Given the description of an element on the screen output the (x, y) to click on. 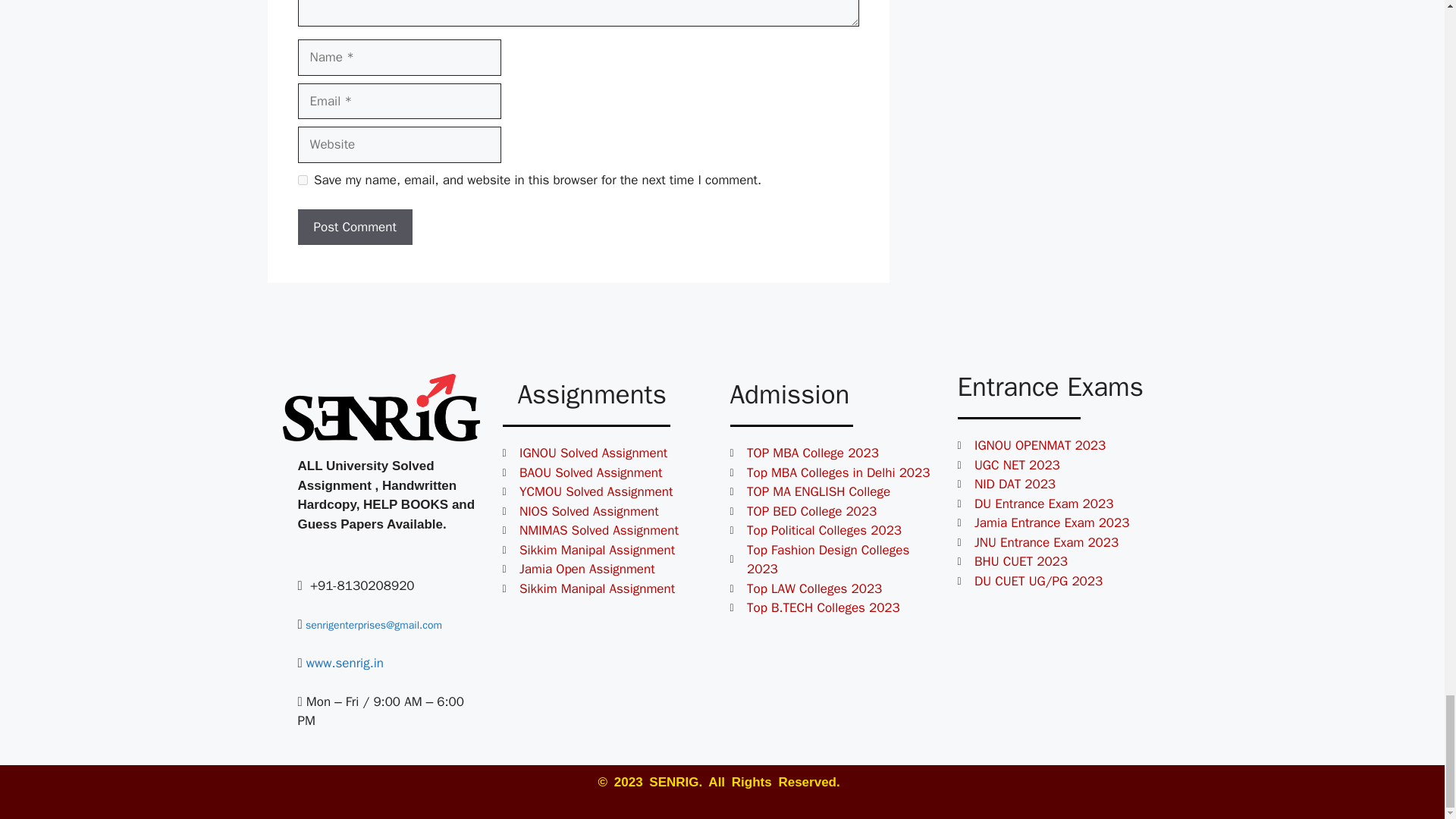
Post Comment (354, 227)
yes (302, 180)
Post Comment (354, 227)
